Given the description of an element on the screen output the (x, y) to click on. 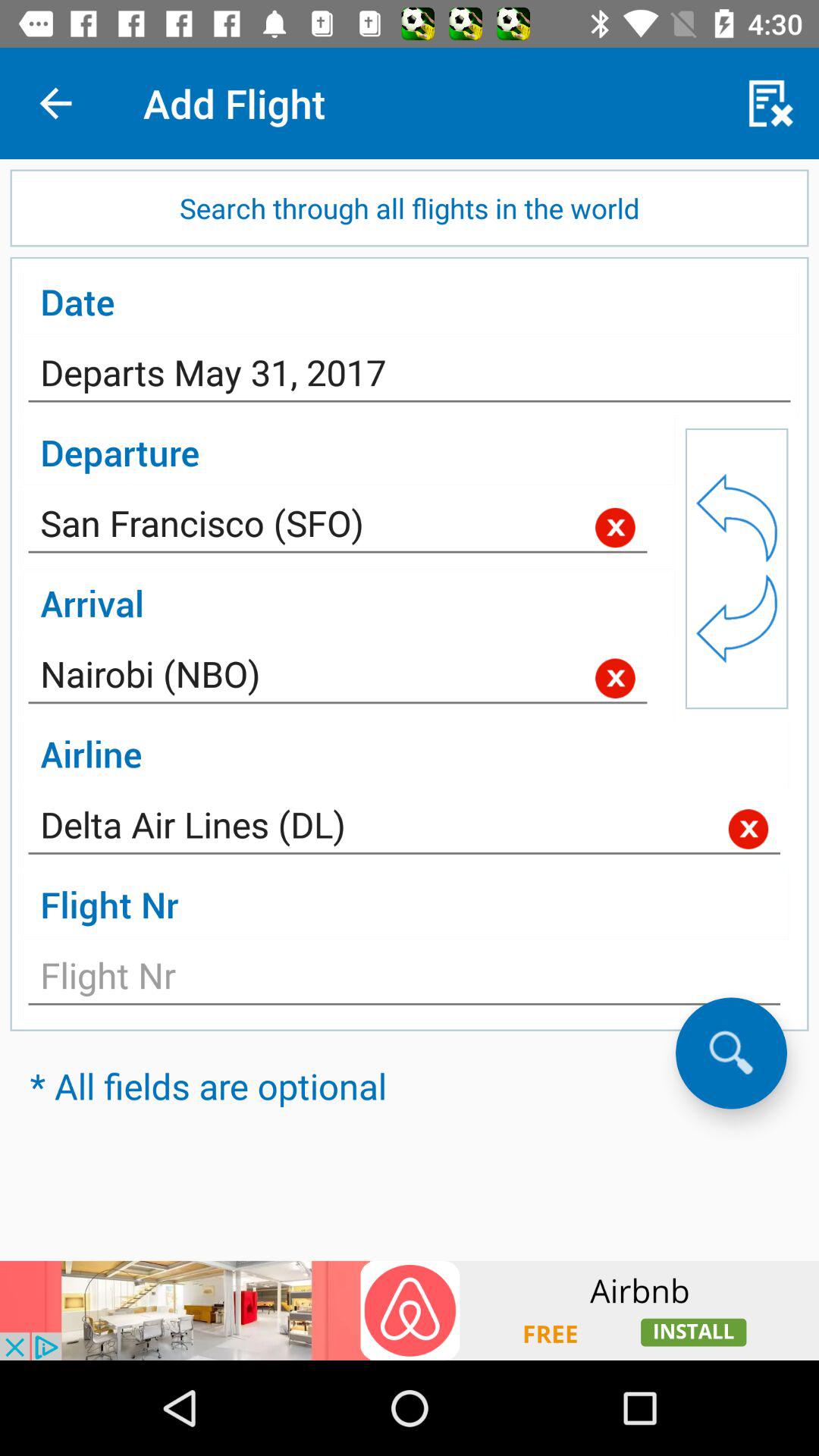
add flight information (404, 979)
